Given the description of an element on the screen output the (x, y) to click on. 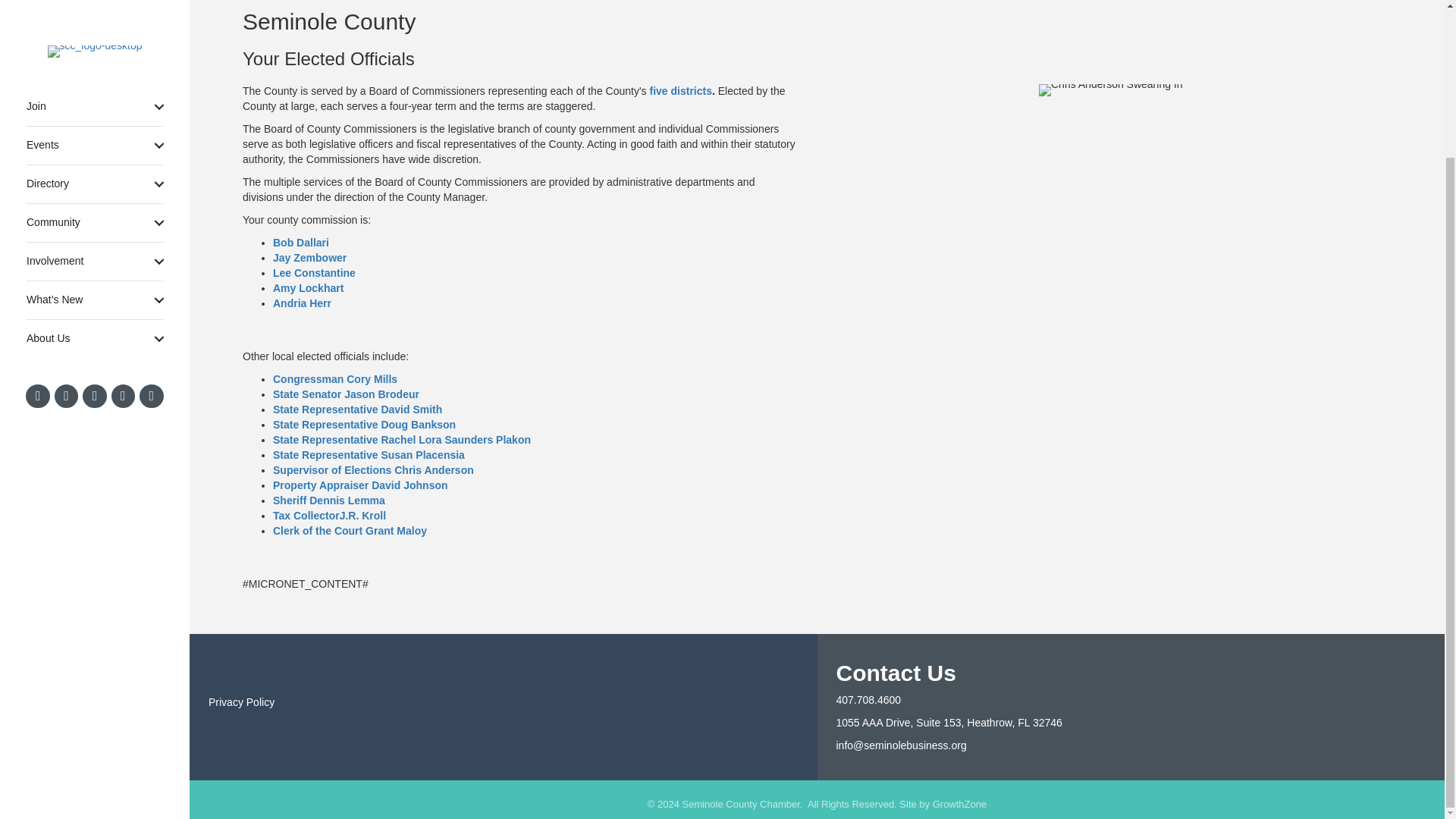
Directory (94, 9)
Involvement (94, 77)
Community (94, 38)
